Given the description of an element on the screen output the (x, y) to click on. 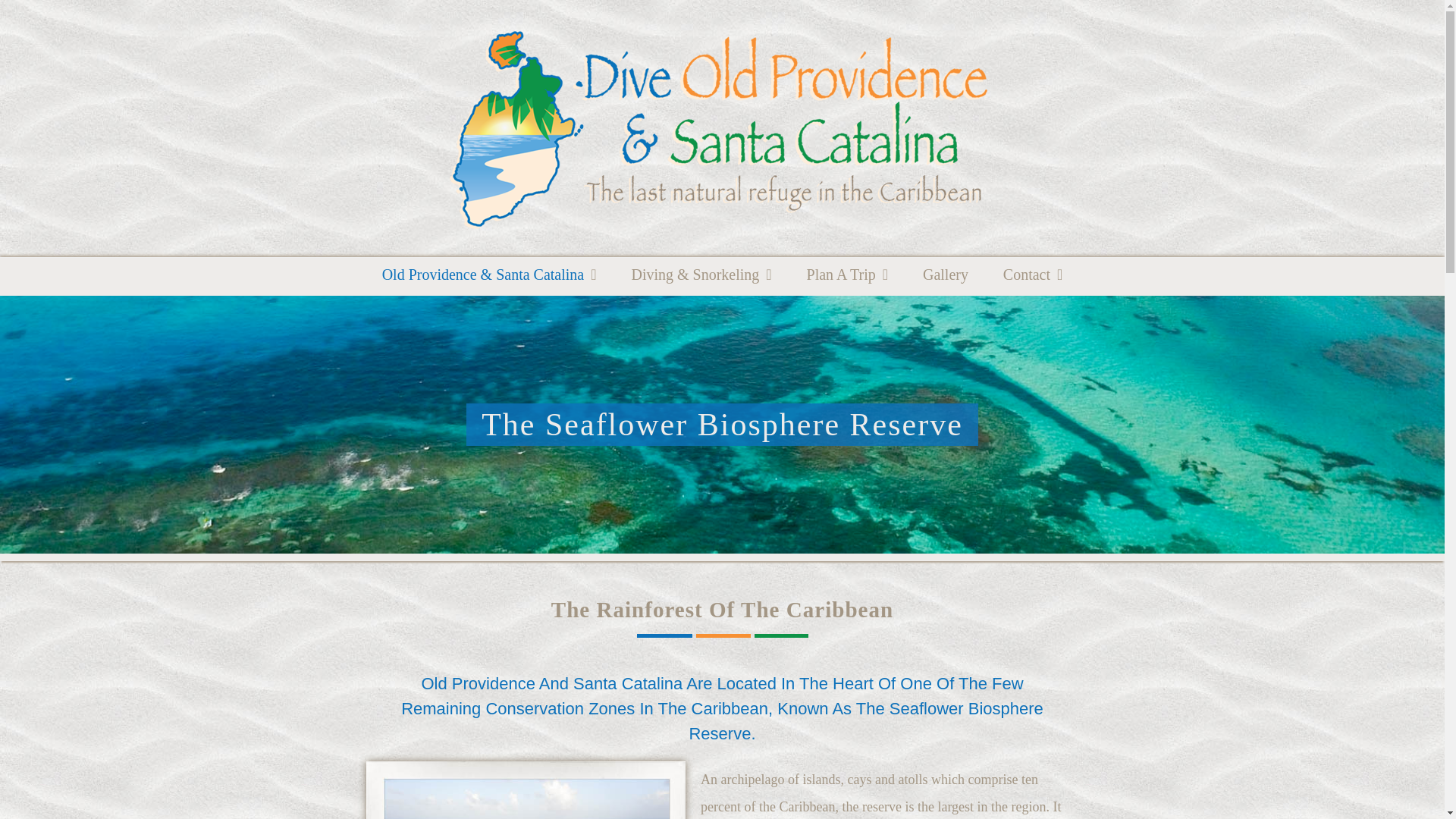
Gallery (945, 276)
Plan A Trip (847, 276)
Contact (1032, 276)
